Given the description of an element on the screen output the (x, y) to click on. 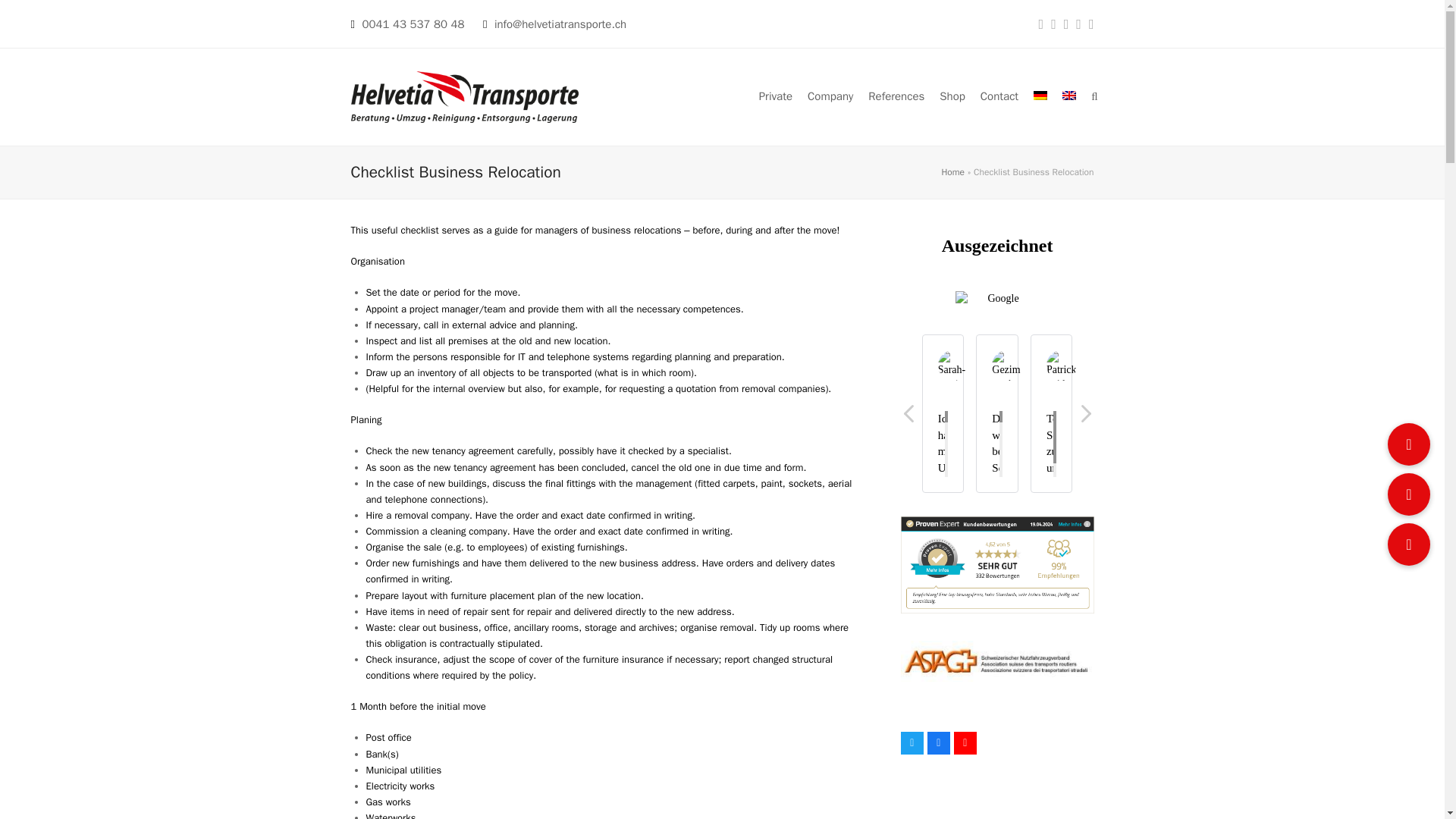
YouTube (964, 743)
Twitter (912, 743)
Facebook (938, 743)
Twitter (912, 743)
0041 43 537 80 48 (412, 24)
Shop (951, 96)
Private (775, 96)
References (895, 96)
Contact (999, 96)
Company (829, 96)
